Given the description of an element on the screen output the (x, y) to click on. 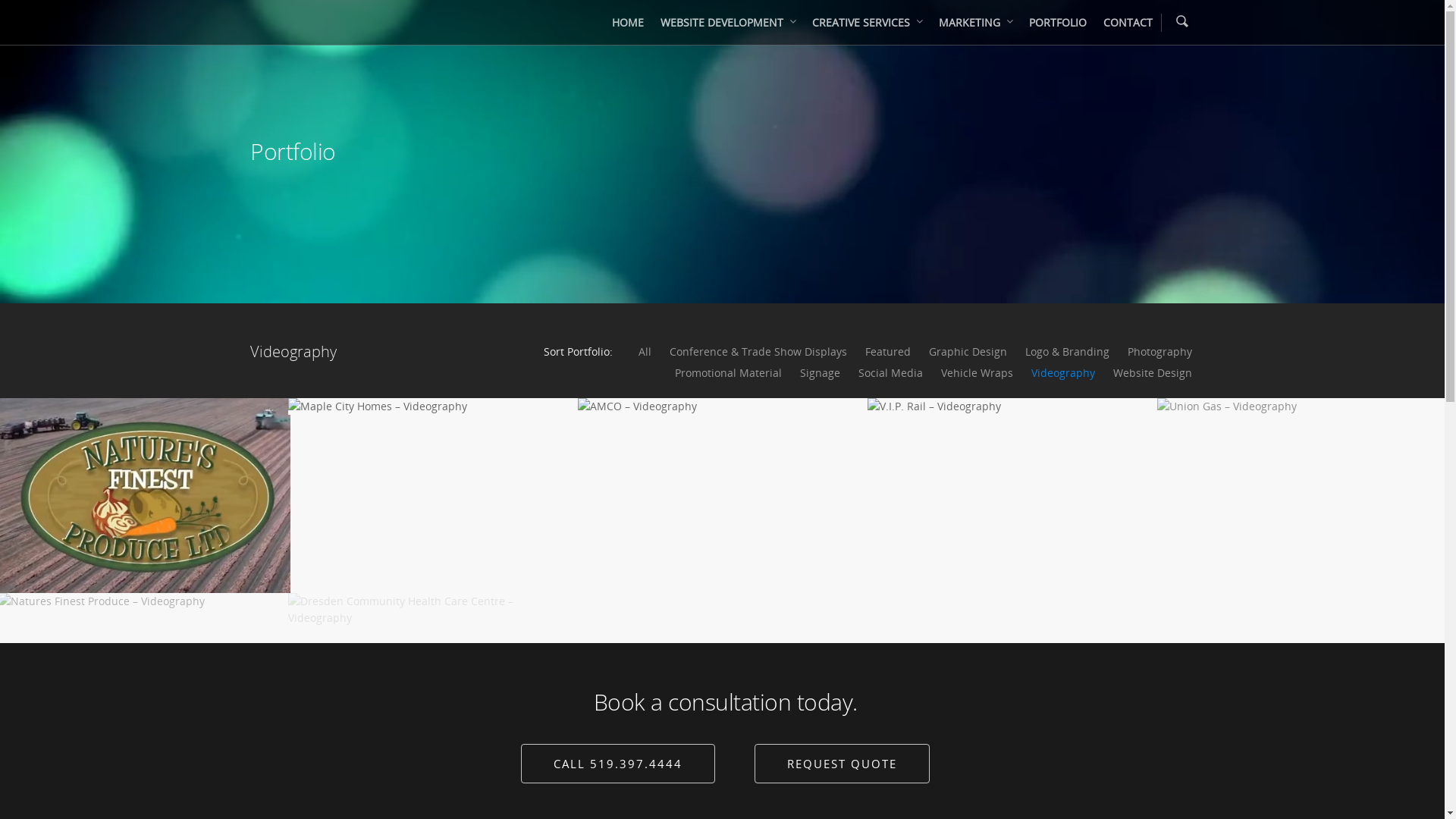
Featured Element type: text (887, 351)
CREATIVE SERVICES Element type: text (866, 26)
HOME Element type: text (627, 26)
All Element type: text (644, 351)
Conference & Trade Show Displays Element type: text (758, 351)
Website Design Element type: text (1152, 372)
PORTFOLIO Element type: text (1057, 26)
Promotional Material Element type: text (728, 372)
Vehicle Wraps Element type: text (976, 372)
Videography Element type: text (1062, 372)
CONTACT Element type: text (1127, 26)
Logo & Branding Element type: text (1067, 351)
Signage Element type: text (819, 372)
WEBSITE DEVELOPMENT Element type: text (727, 26)
REQUEST QUOTE Element type: text (841, 763)
MARKETING Element type: text (975, 26)
Graphic Design Element type: text (967, 351)
Social Media Element type: text (890, 372)
Photography Element type: text (1159, 351)
CALL 519.397.4444 Element type: text (617, 763)
